Given the description of an element on the screen output the (x, y) to click on. 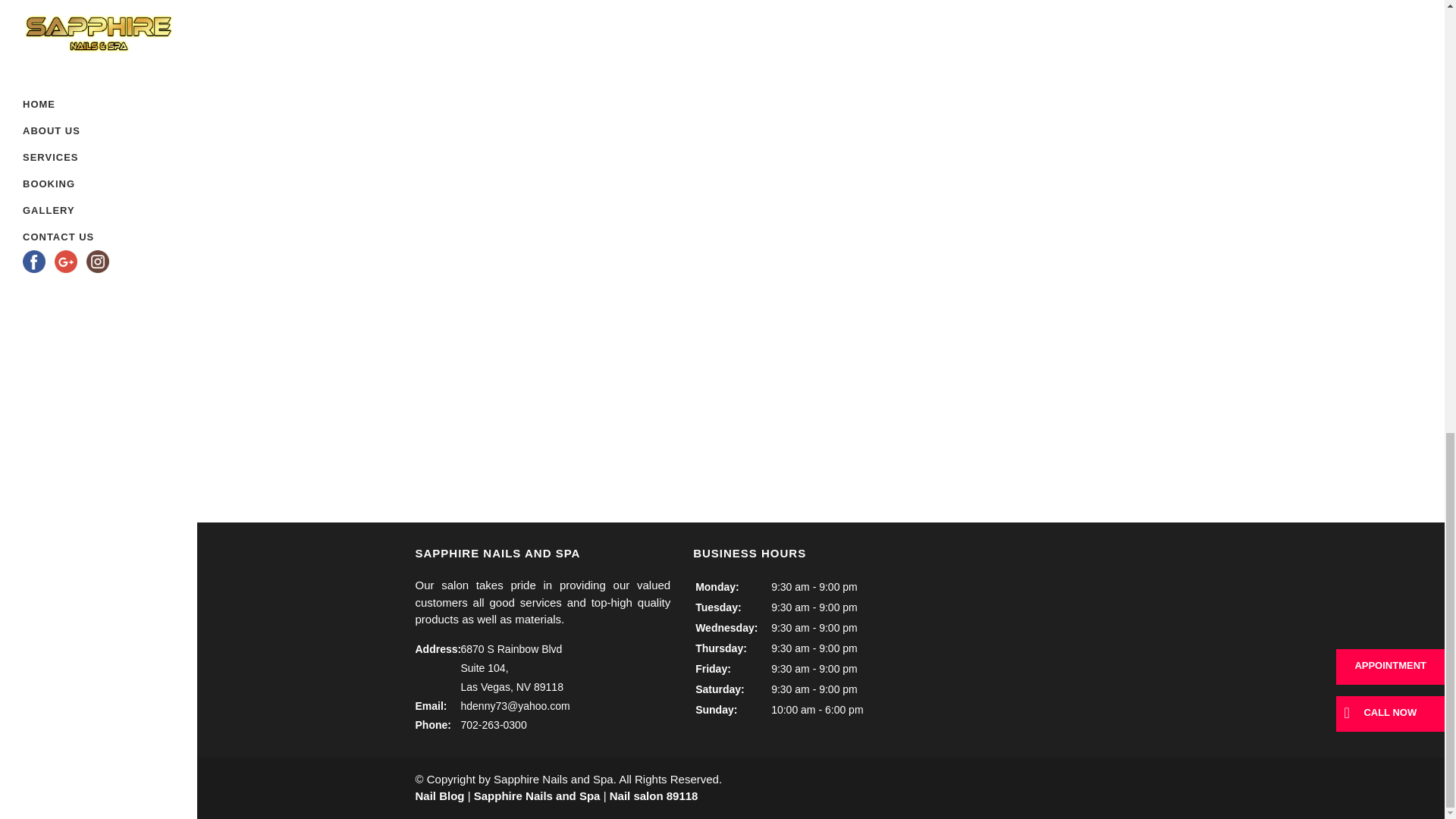
Sapphire Nails and Spa in Las Vegas, NV 89118 (716, 71)
Sapphire Nails and Spa in Las Vegas, NV 89118 (924, 71)
Sapphire Nails and Spa in Las Vegas, NV 89118 (507, 71)
Sapphire Nails and Spa in Las Vegas, NV 89118 (1133, 71)
